Given the description of an element on the screen output the (x, y) to click on. 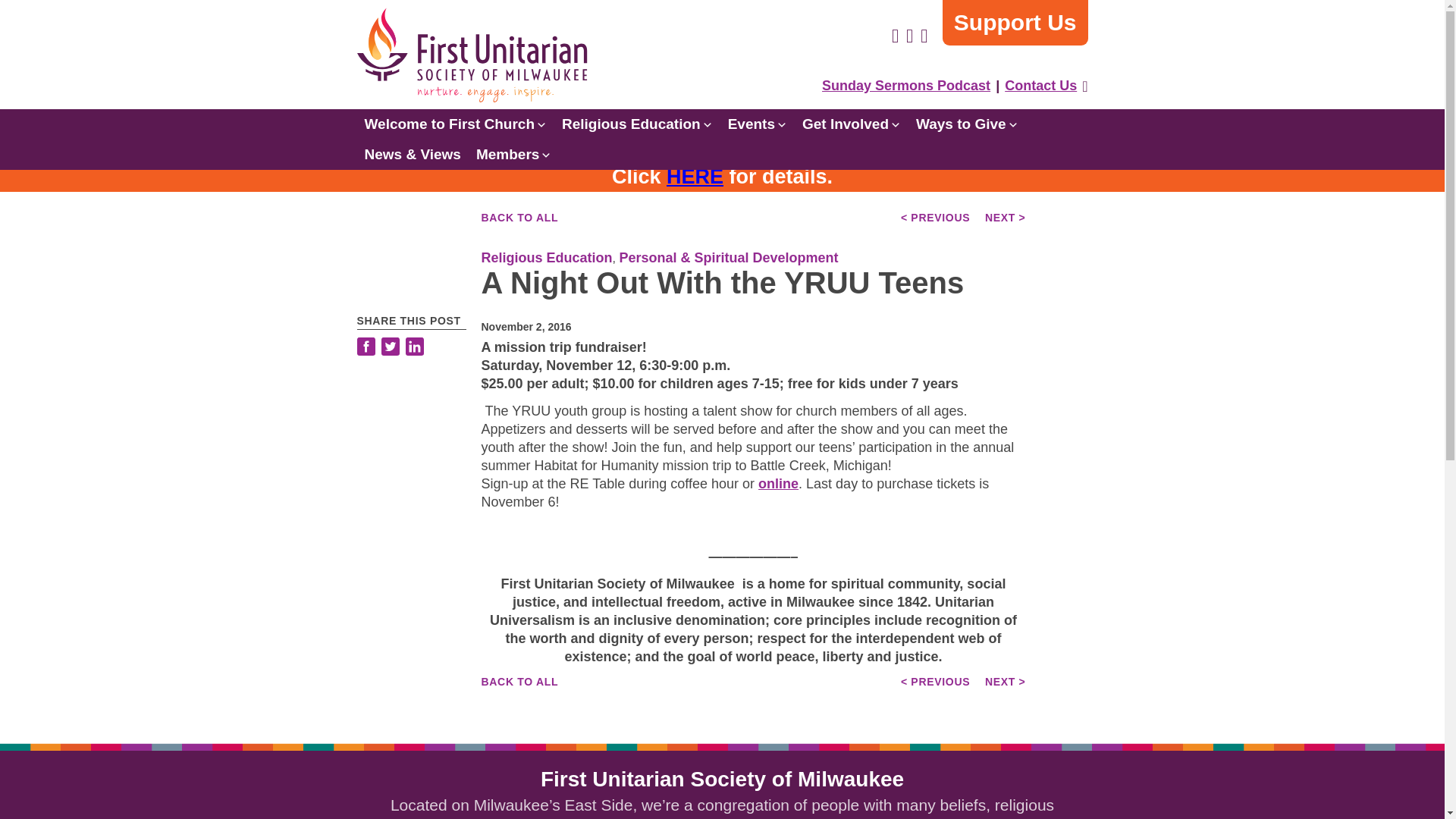
Get Involved (851, 123)
LinkedIn (413, 348)
Support Us (1014, 22)
Events (757, 123)
Religious Education (637, 123)
Welcome to First Church (455, 123)
Visit us on Facebook (894, 35)
Sunday Sermons Podcast (905, 85)
Visit us on YouTube (923, 35)
Facebook (366, 348)
Open Search Form (1084, 86)
Visit us on Instagram (908, 35)
Twitter (389, 348)
Contact Us (1039, 85)
